Given the description of an element on the screen output the (x, y) to click on. 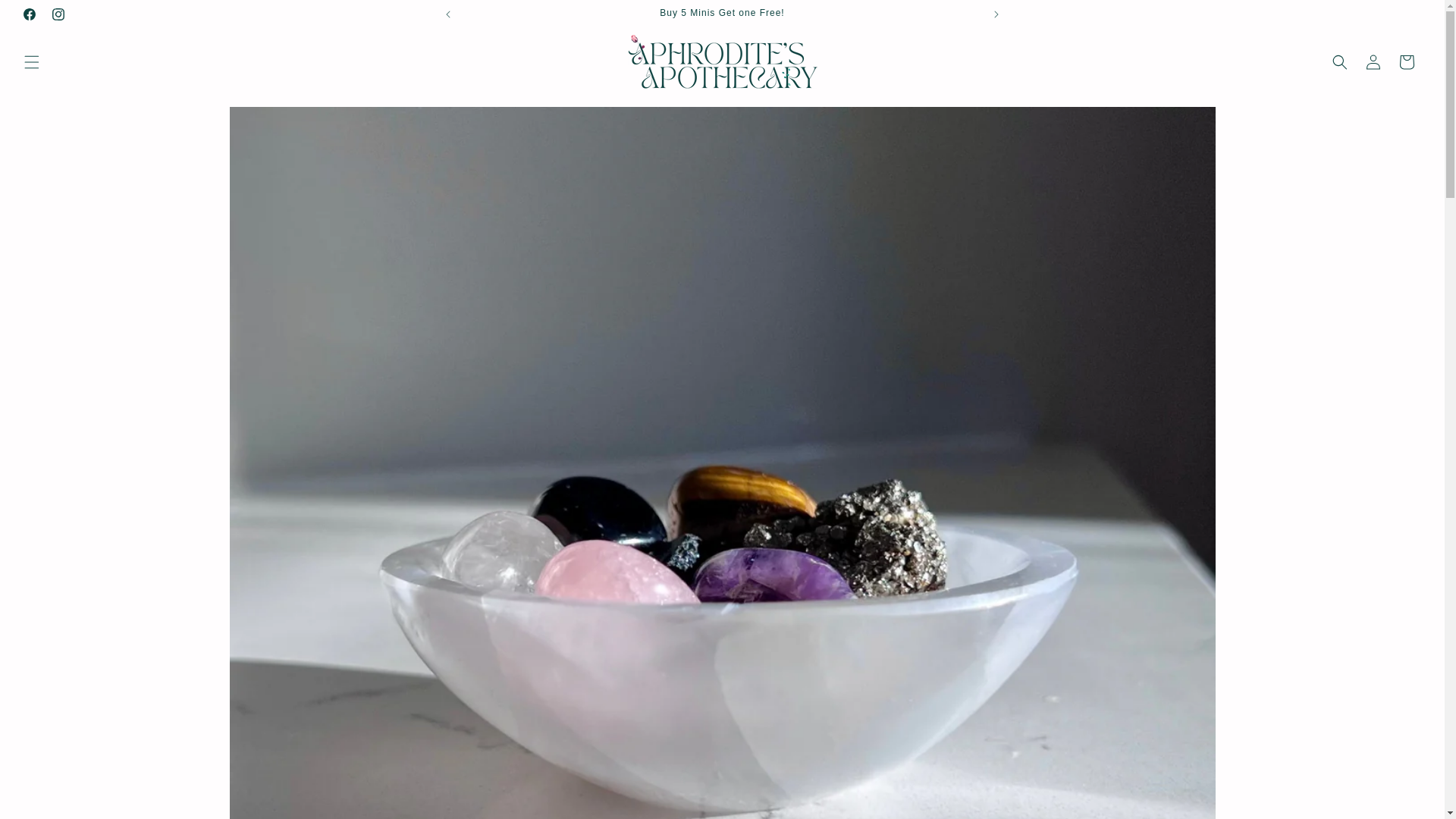
Cart (1406, 61)
Facebook (28, 14)
Instagram (57, 14)
Log in (1373, 61)
Skip to content (45, 17)
